Given the description of an element on the screen output the (x, y) to click on. 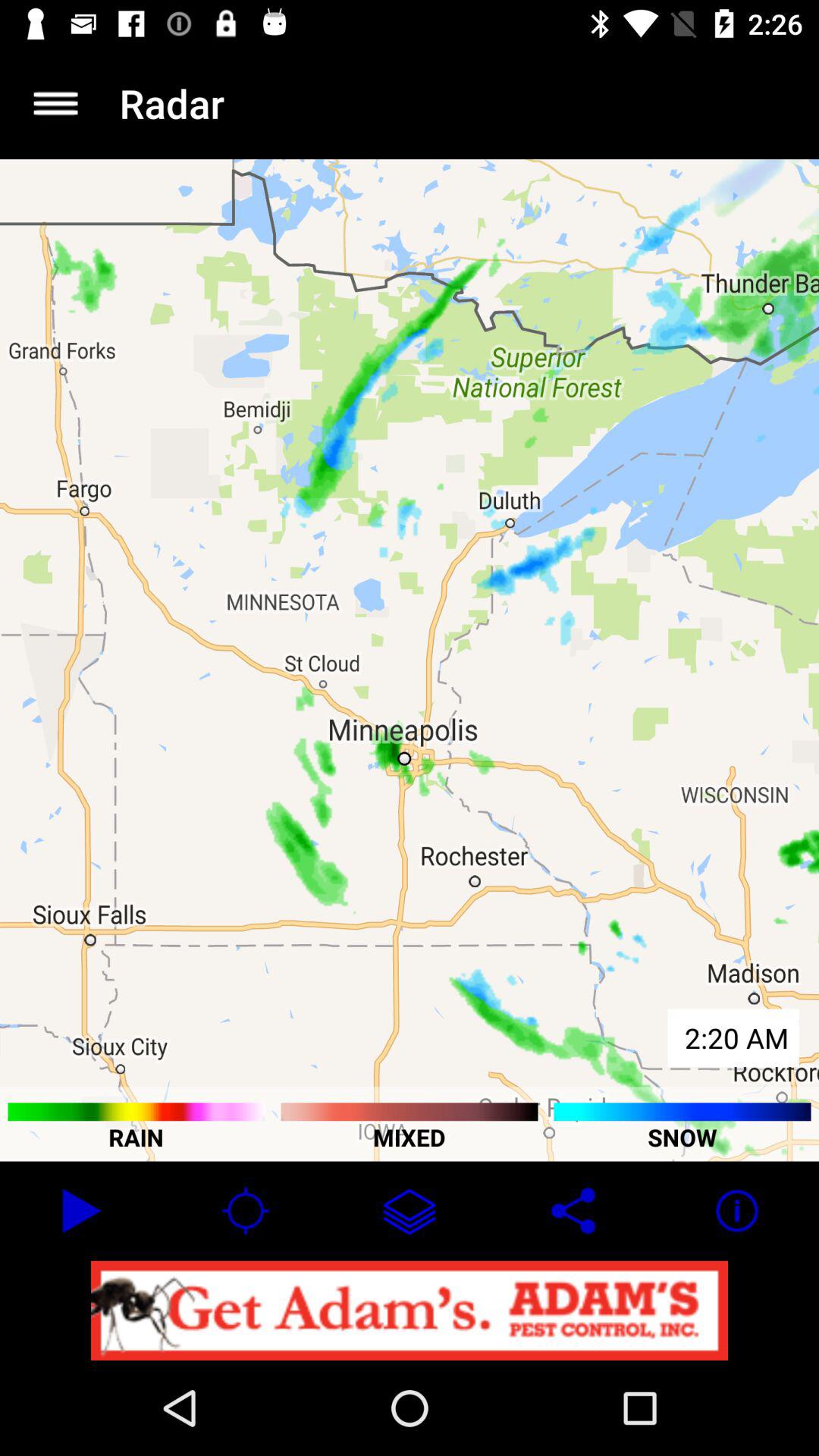
go to notification (409, 1310)
